Given the description of an element on the screen output the (x, y) to click on. 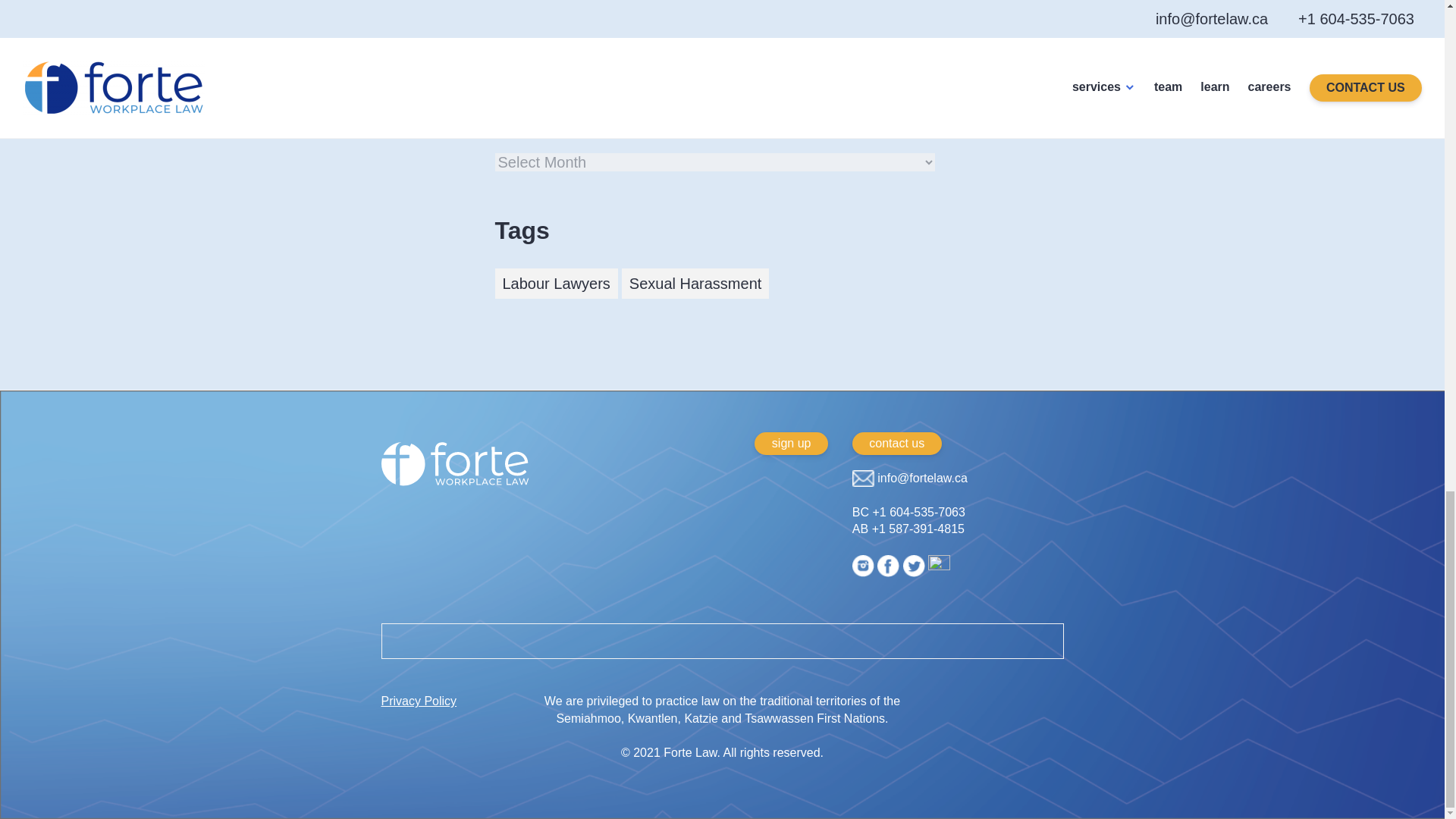
Labour Lawyers (556, 283)
sign up (790, 443)
Sexual Harassment (695, 283)
